Given the description of an element on the screen output the (x, y) to click on. 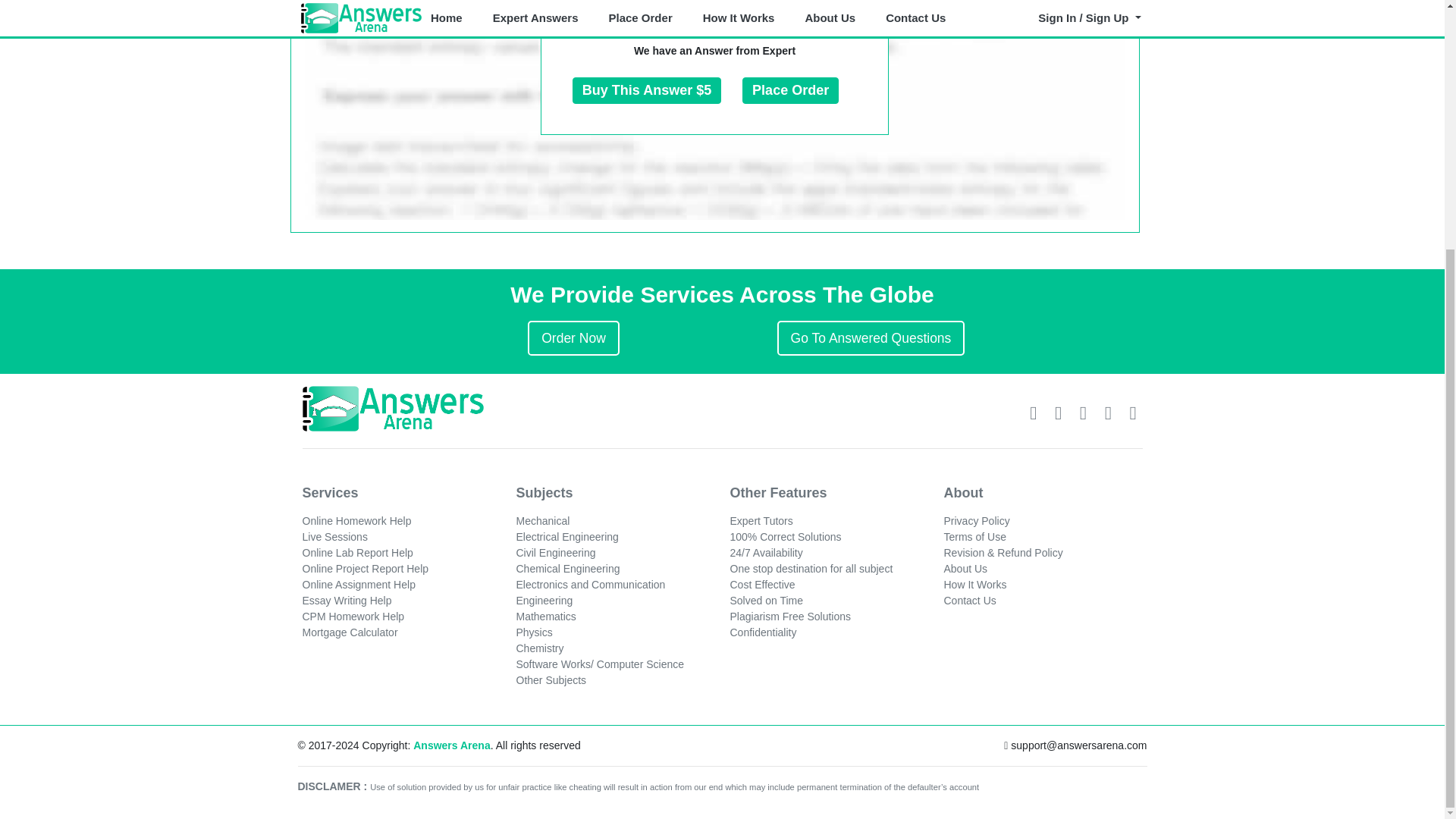
Privacy Policy (976, 521)
Online Assignment Help (357, 584)
Terms of Use (974, 536)
Go To Answered Questions (871, 338)
Mortgage Calculator (349, 632)
CPM Homework Help (352, 616)
Contact Us (969, 600)
About Us (965, 568)
How It Works (974, 584)
Place Order (790, 90)
